Given the description of an element on the screen output the (x, y) to click on. 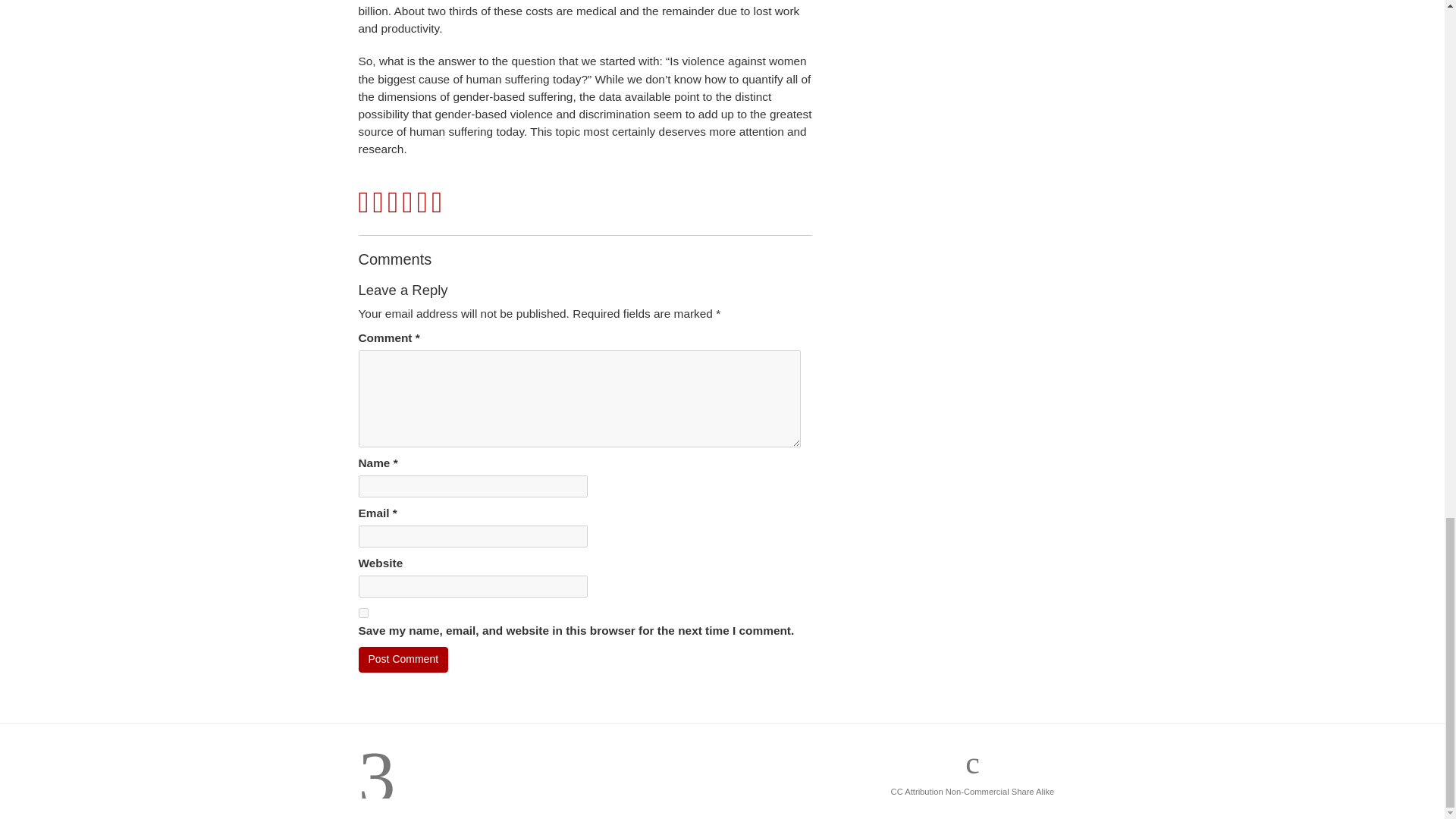
Post Comment (403, 659)
yes (363, 613)
Post Comment (403, 659)
